Given the description of an element on the screen output the (x, y) to click on. 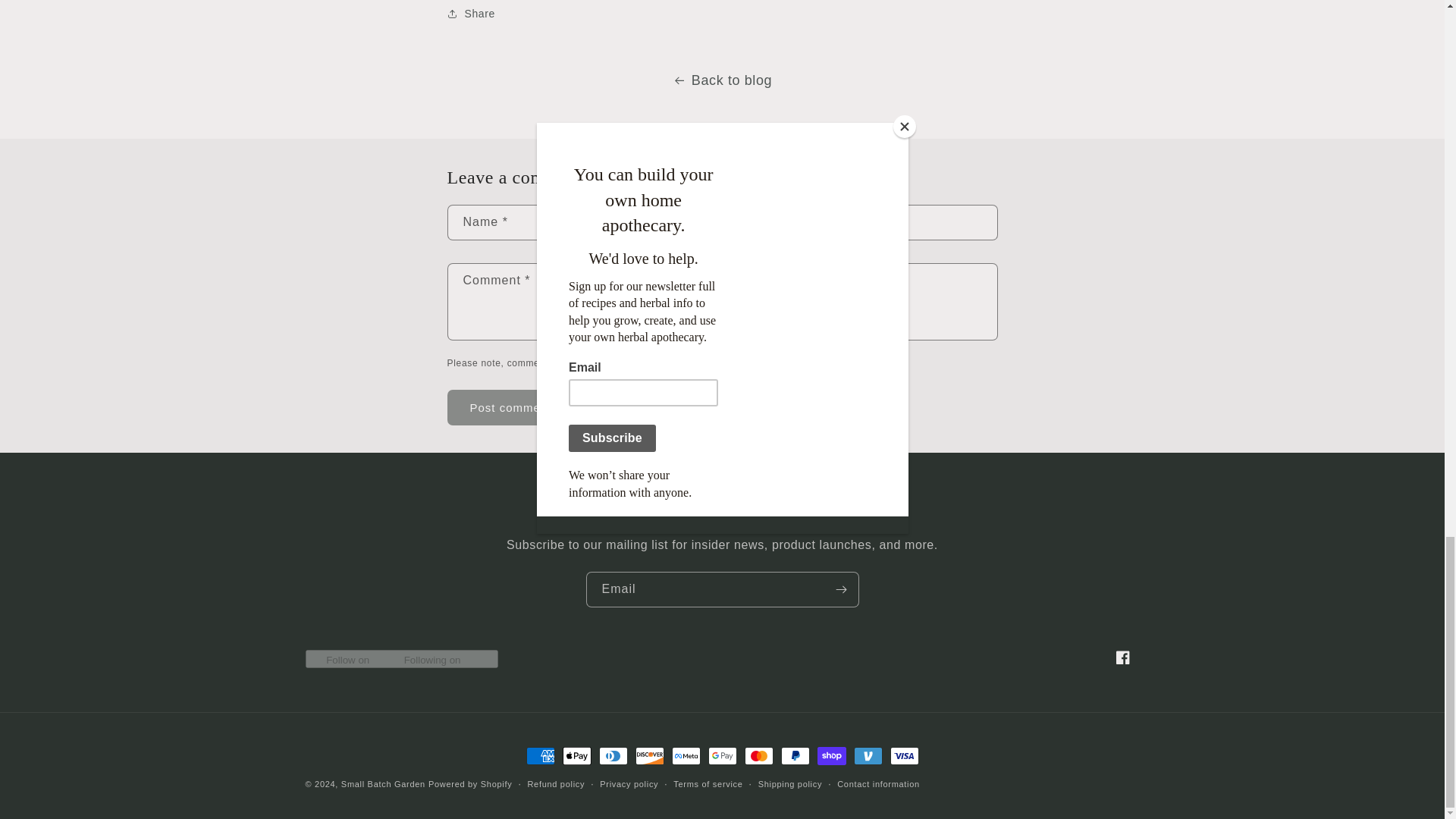
Post comment (510, 407)
Post comment (510, 407)
